Given the description of an element on the screen output the (x, y) to click on. 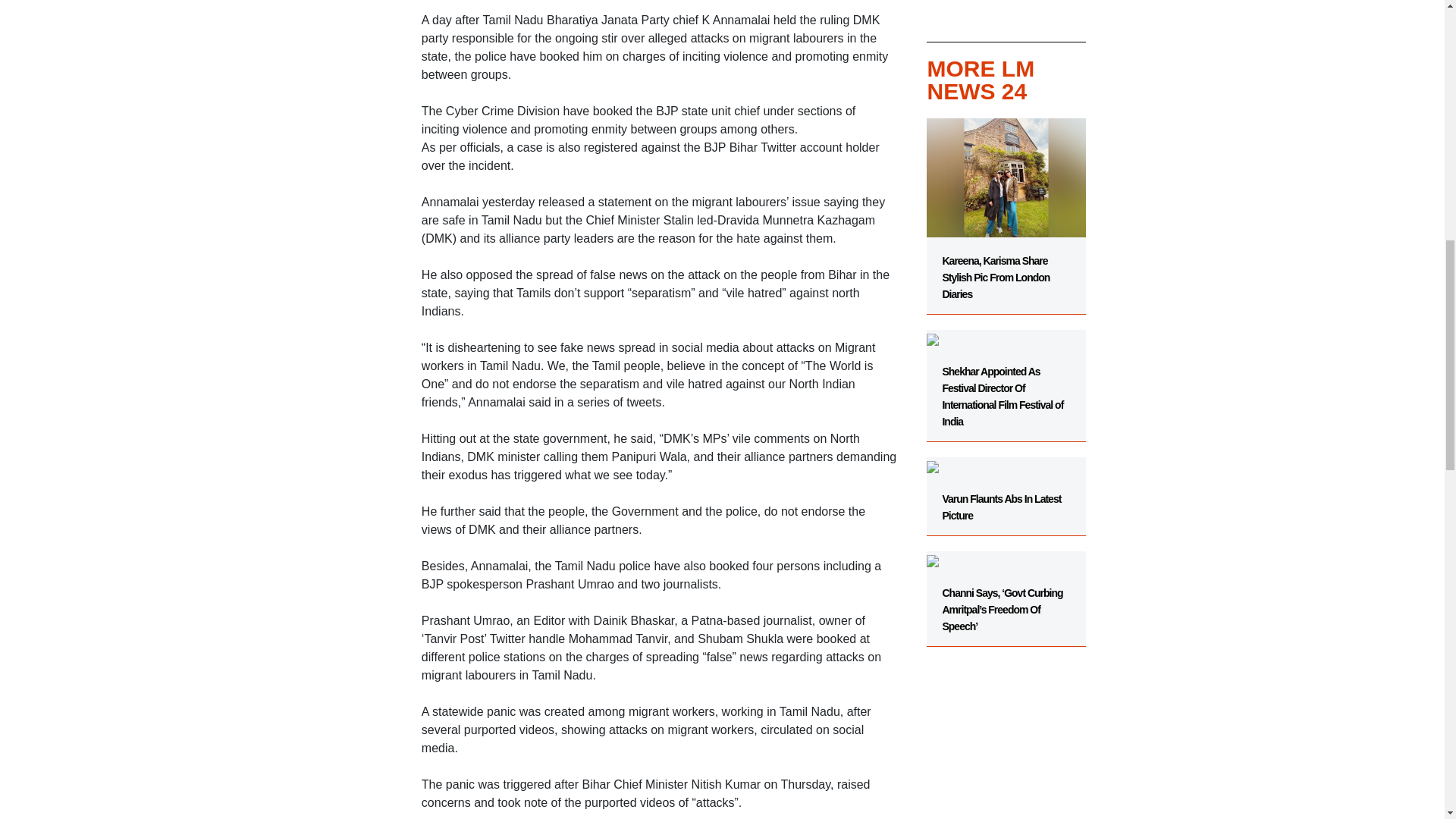
Kareena, Karisma Share Stylish Pic From London Diaries (1006, 216)
Varun Flaunts Abs In Latest Picture (1006, 489)
